Given the description of an element on the screen output the (x, y) to click on. 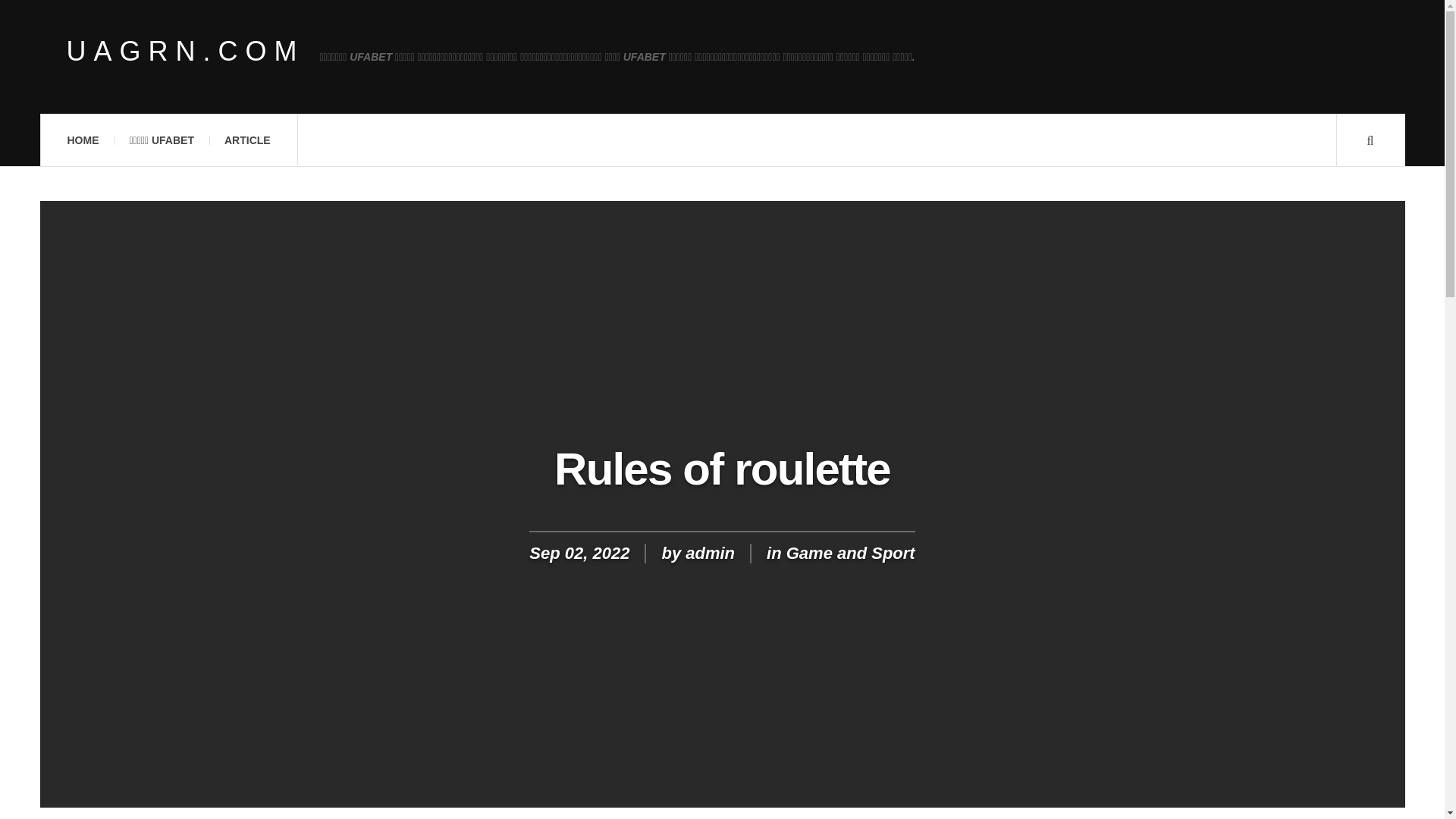
HOME (81, 140)
View all posts in Game and Sport (850, 552)
UAGRN.COM (185, 51)
ARTICLE (247, 140)
admin (710, 552)
uagrn.com (185, 51)
Game and Sport (850, 552)
